Given the description of an element on the screen output the (x, y) to click on. 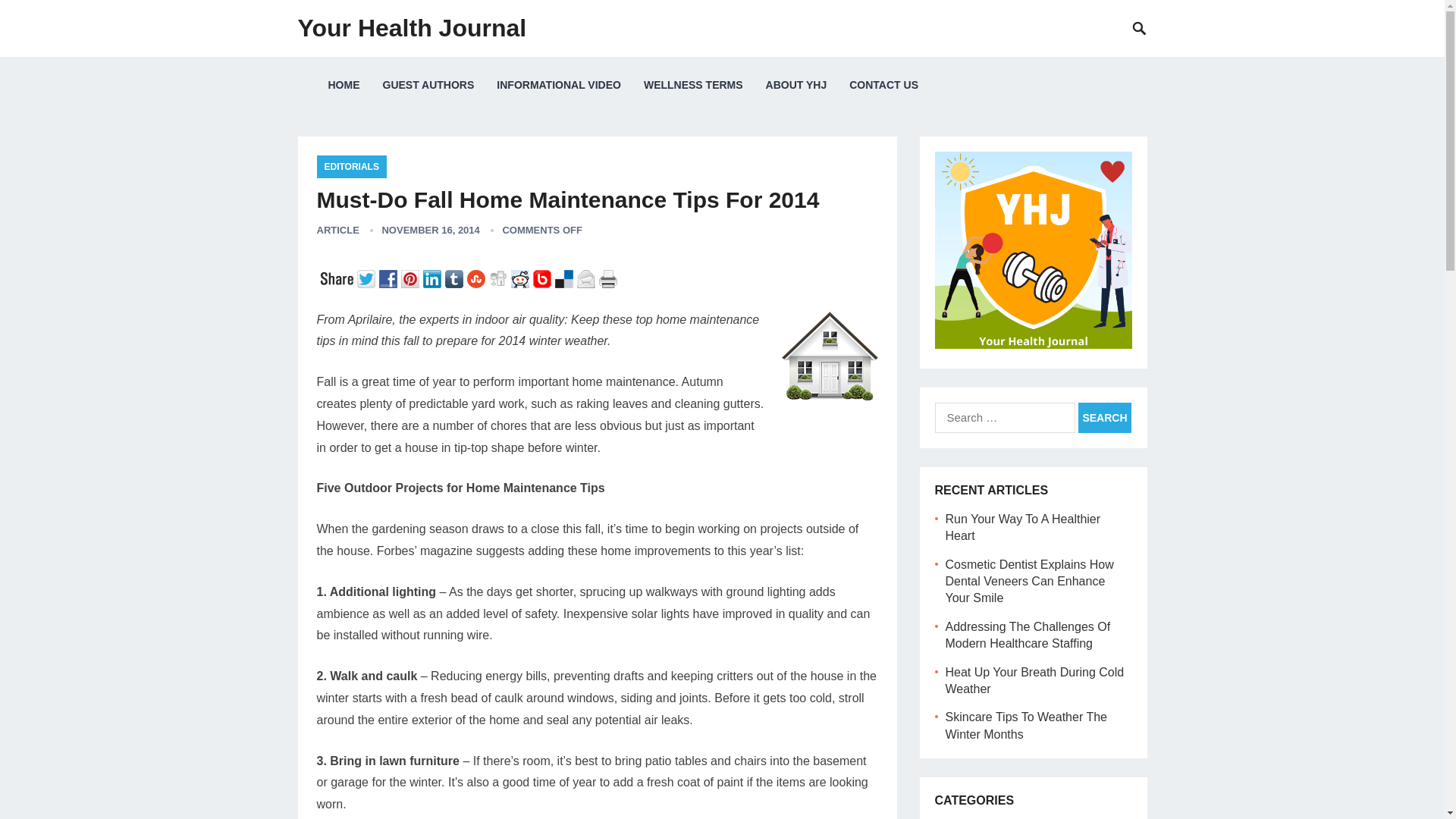
Print (609, 277)
View all posts in Editorials (352, 166)
StumbleUpon (478, 277)
Search (1104, 417)
GUEST AUTHORS (428, 84)
Bebo (543, 277)
ARTICLE (338, 229)
Posts by Article (338, 229)
Twitter (367, 277)
Email (587, 277)
